Given the description of an element on the screen output the (x, y) to click on. 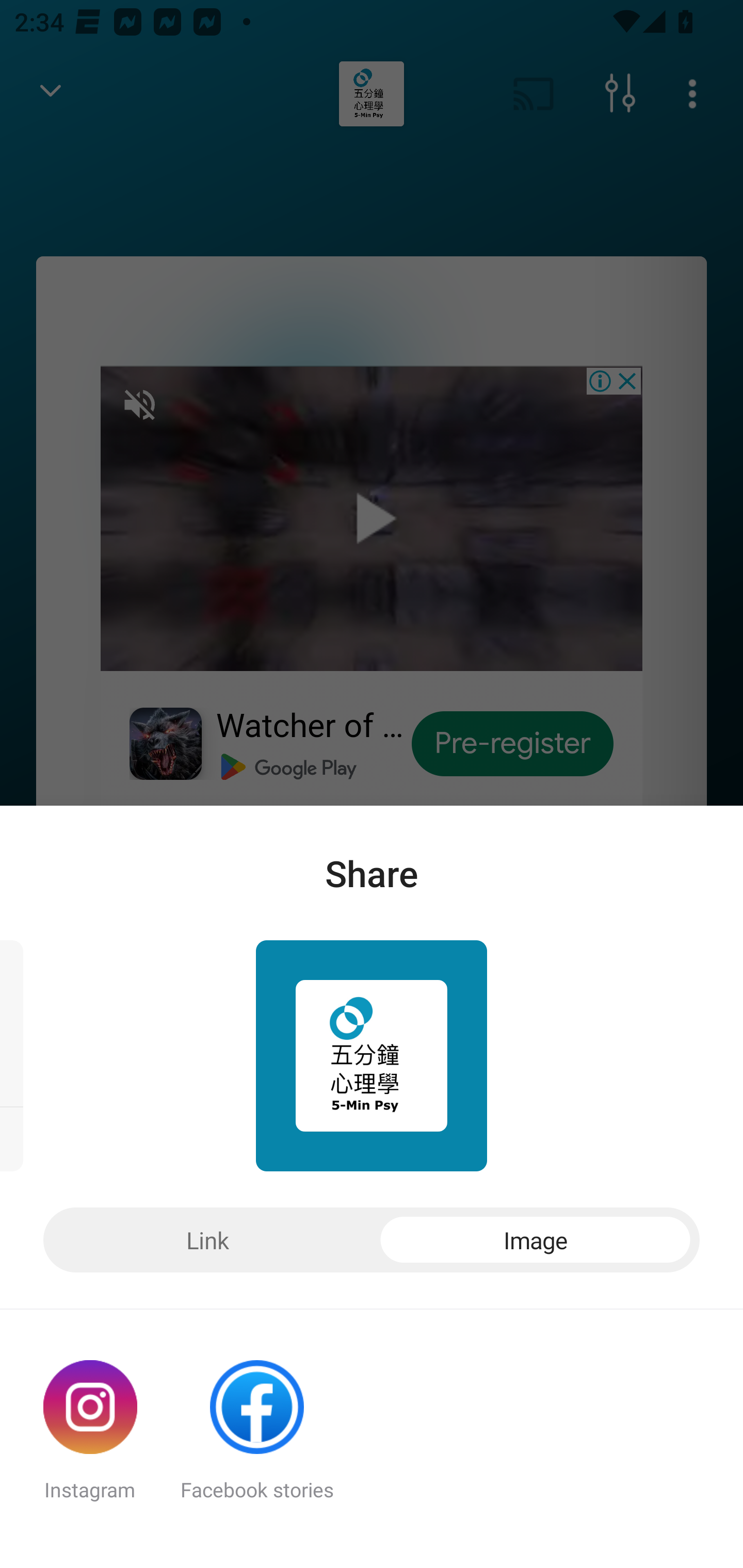
Link (207, 1240)
Image (535, 1240)
Instagram (90, 1438)
Facebook stories (256, 1438)
